Given the description of an element on the screen output the (x, y) to click on. 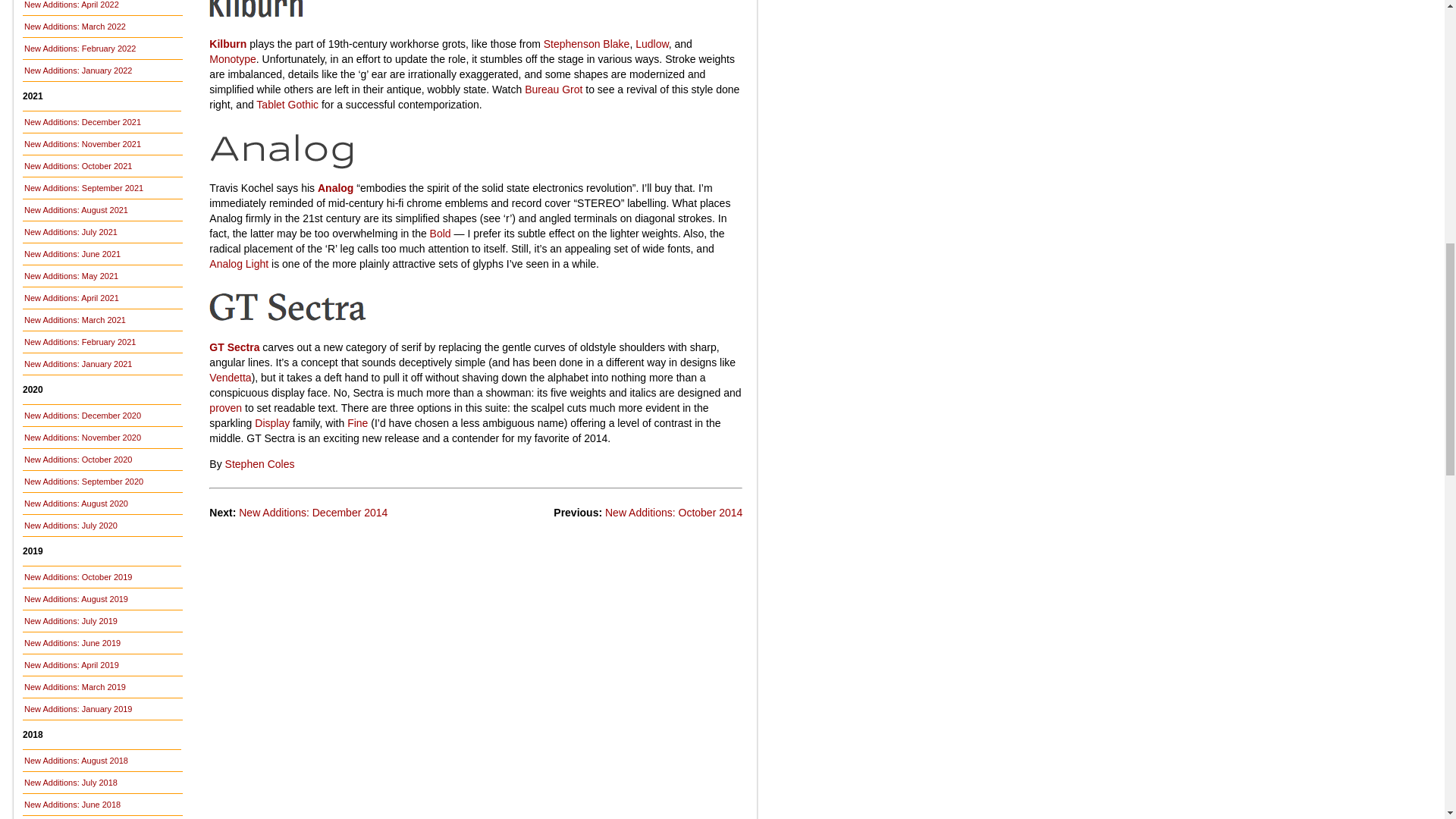
GT Sectra (373, 325)
Kilburn (373, 21)
Analog (373, 165)
